Given the description of an element on the screen output the (x, y) to click on. 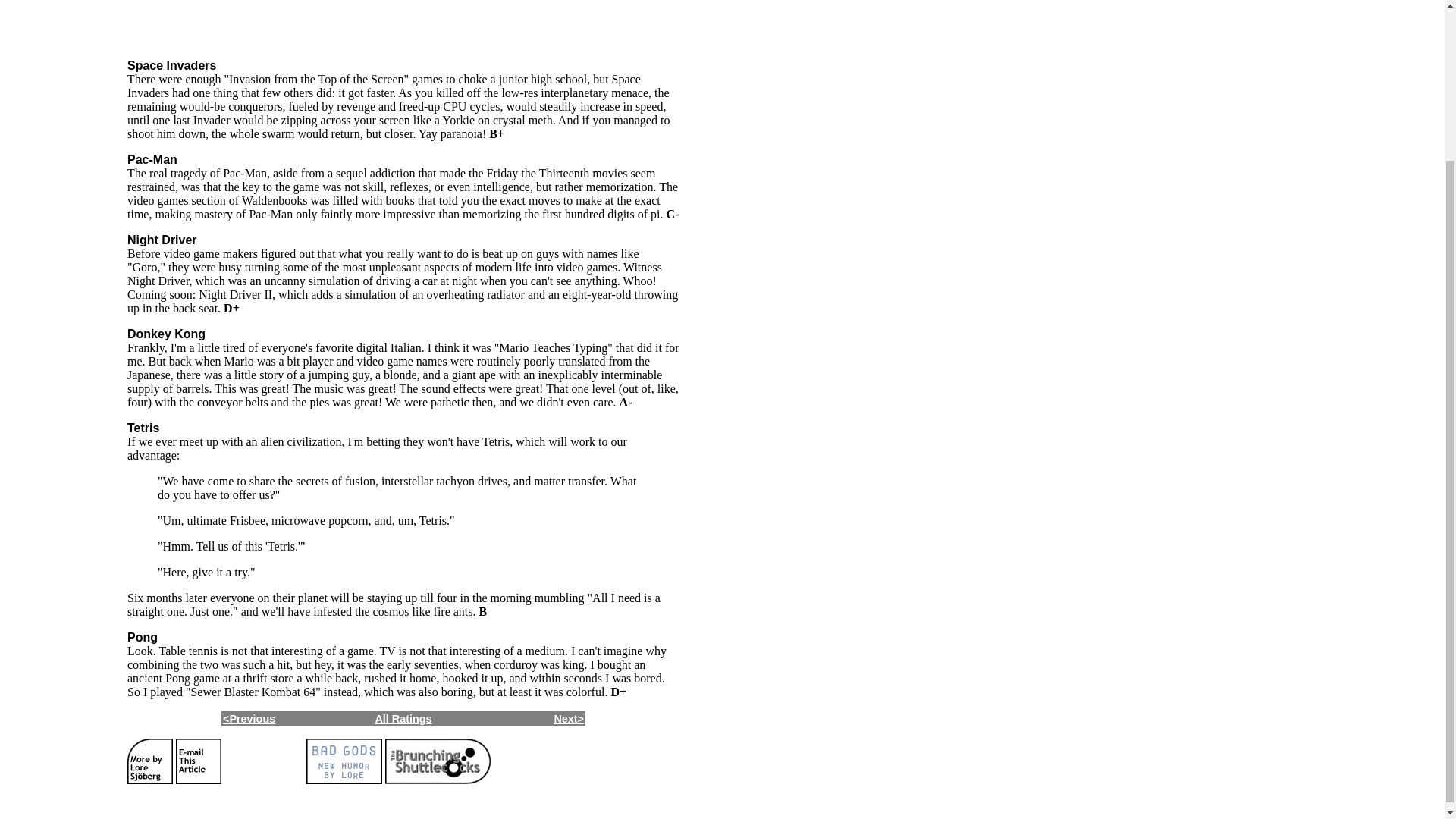
Advertisement (403, 23)
Bad Gods: More Humor by Lore (343, 779)
Brunching Mainpage (438, 779)
All Ratings (402, 718)
